Given the description of an element on the screen output the (x, y) to click on. 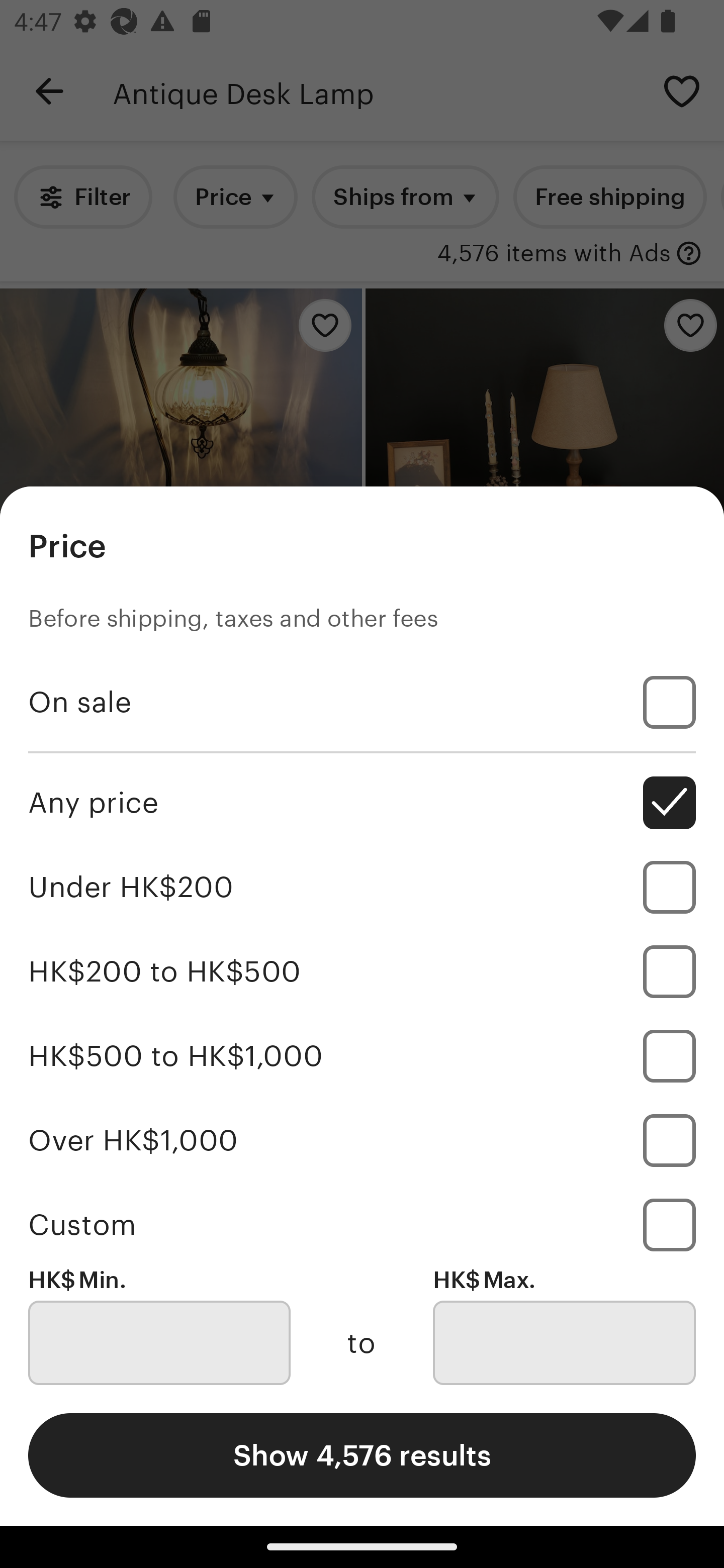
On sale (362, 702)
Any price (362, 802)
Under HK$200 (362, 887)
HK$200 to HK$500 (362, 970)
HK$500 to HK$1,000 (362, 1054)
Over HK$1,000 (362, 1139)
Custom (362, 1224)
Show 4,576 results (361, 1454)
